Given the description of an element on the screen output the (x, y) to click on. 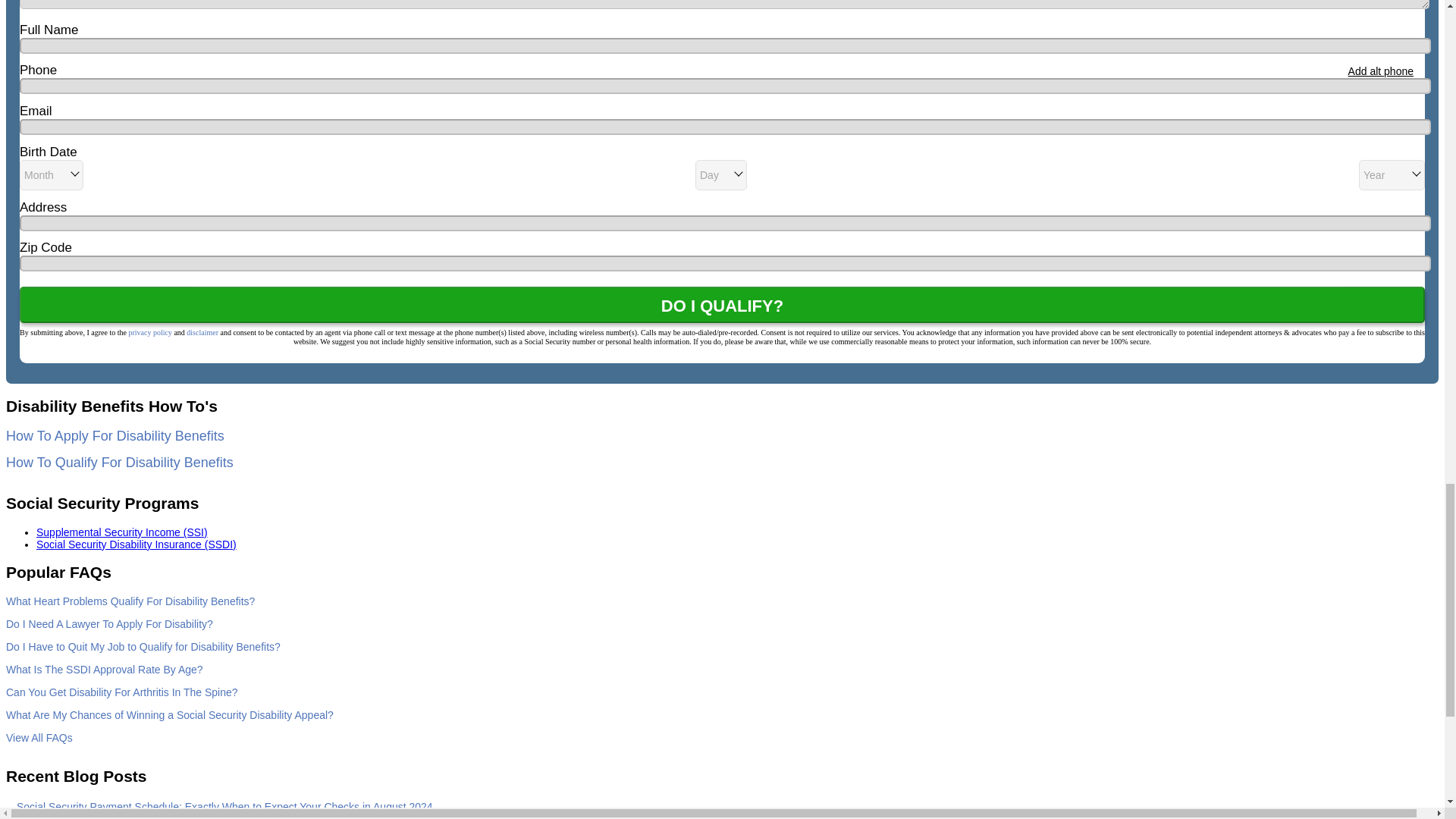
Year (1391, 174)
Do I Have to Quit My Job to Qualify for Disability Benefits? (143, 646)
Day (720, 174)
What Is The SSDI Approval Rate By Age? (104, 669)
privacy policy (149, 332)
How To Qualify For Disability Benefits (118, 462)
Month (51, 174)
Can You Get Disability For Arthritis In The Spine? (121, 692)
Do I Need A Lawyer To Apply For Disability? (108, 623)
View All FAQs (38, 737)
disclaimer (202, 332)
What Heart Problems Qualify For Disability Benefits? (129, 601)
DO I QUALIFY? (722, 304)
